Given the description of an element on the screen output the (x, y) to click on. 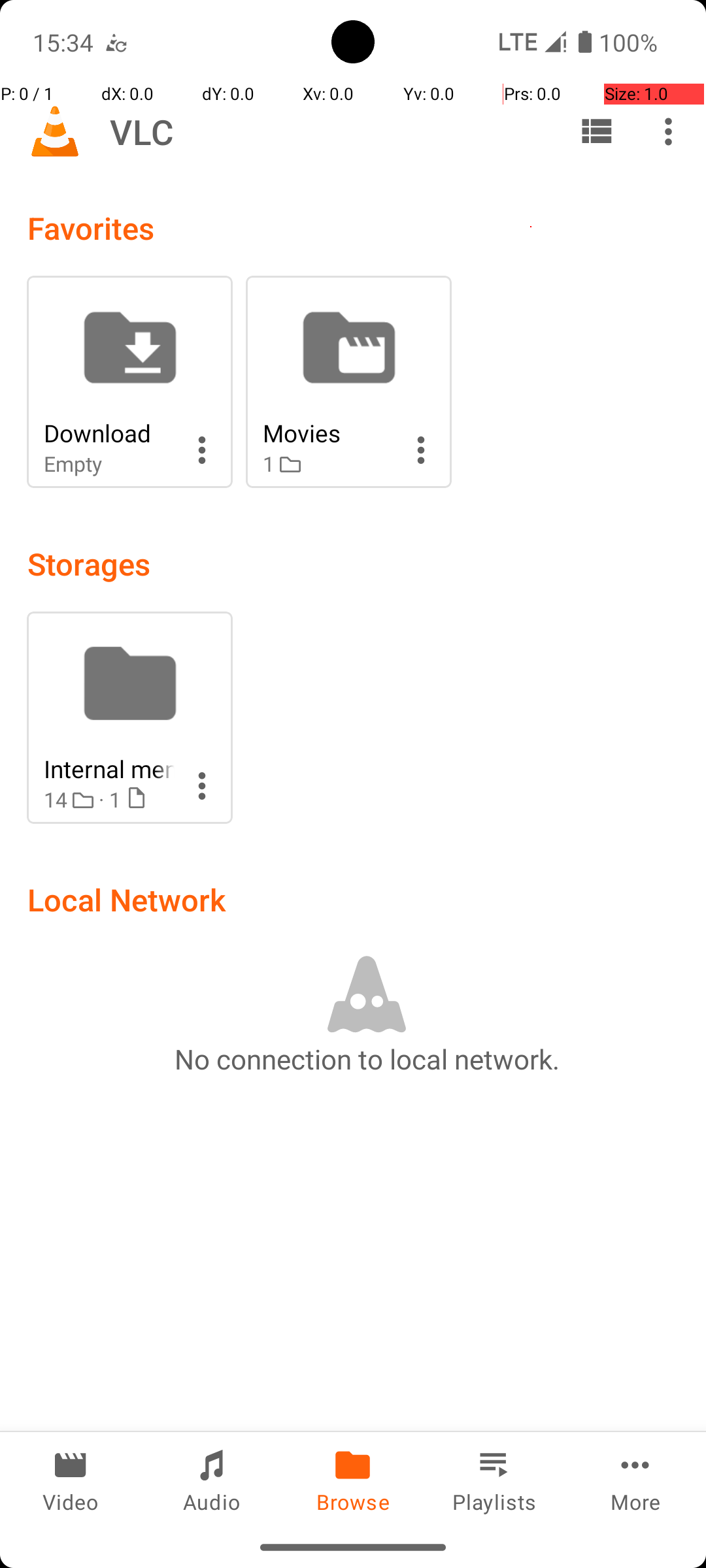
Display in list Element type: android.widget.TextView (595, 131)
Storages Element type: android.widget.TextView (88, 563)
Local Network Element type: android.widget.TextView (126, 898)
No connection to local network. Element type: android.widget.TextView (366, 1058)
Favorite: Download, Empty Element type: androidx.cardview.widget.CardView (129, 381)
Favorite: Movies, 1 subfolder Element type: androidx.cardview.widget.CardView (348, 381)
Folder: Internal memory, 14 subfolders, 1 media file Element type: androidx.cardview.widget.CardView (129, 717)
Empty Element type: android.widget.TextView (108, 463)
1 §*§ Element type: android.widget.TextView (327, 463)
14 §*§ · 1 *§* Element type: android.widget.TextView (108, 799)
